Given the description of an element on the screen output the (x, y) to click on. 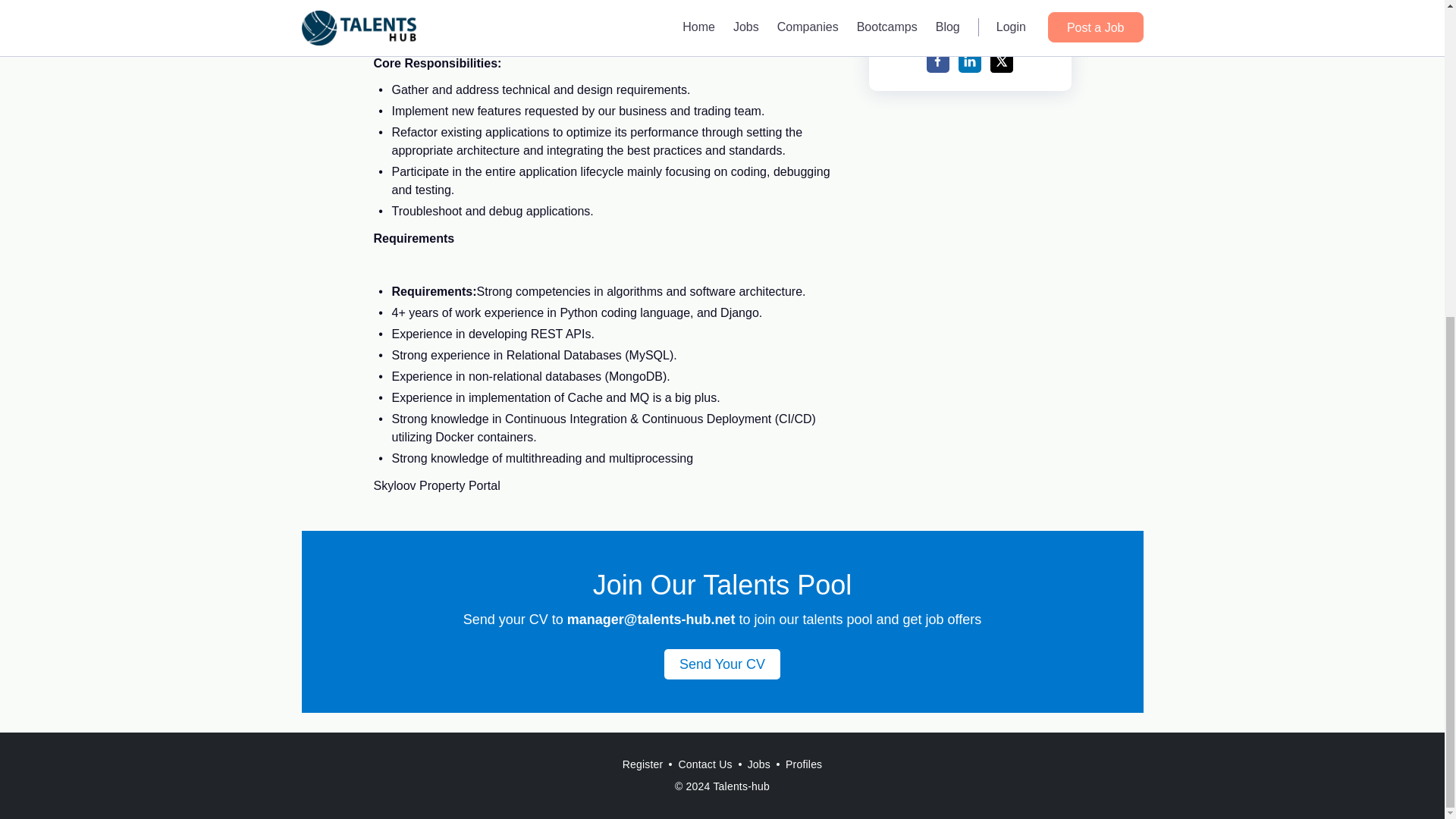
Share to Twitter (1001, 60)
Share to FB (937, 60)
Register (642, 764)
Contact Us (704, 764)
Profiles (803, 764)
Send Your CV (721, 664)
Share to Linkedin (969, 60)
Jobs (758, 764)
